Given the description of an element on the screen output the (x, y) to click on. 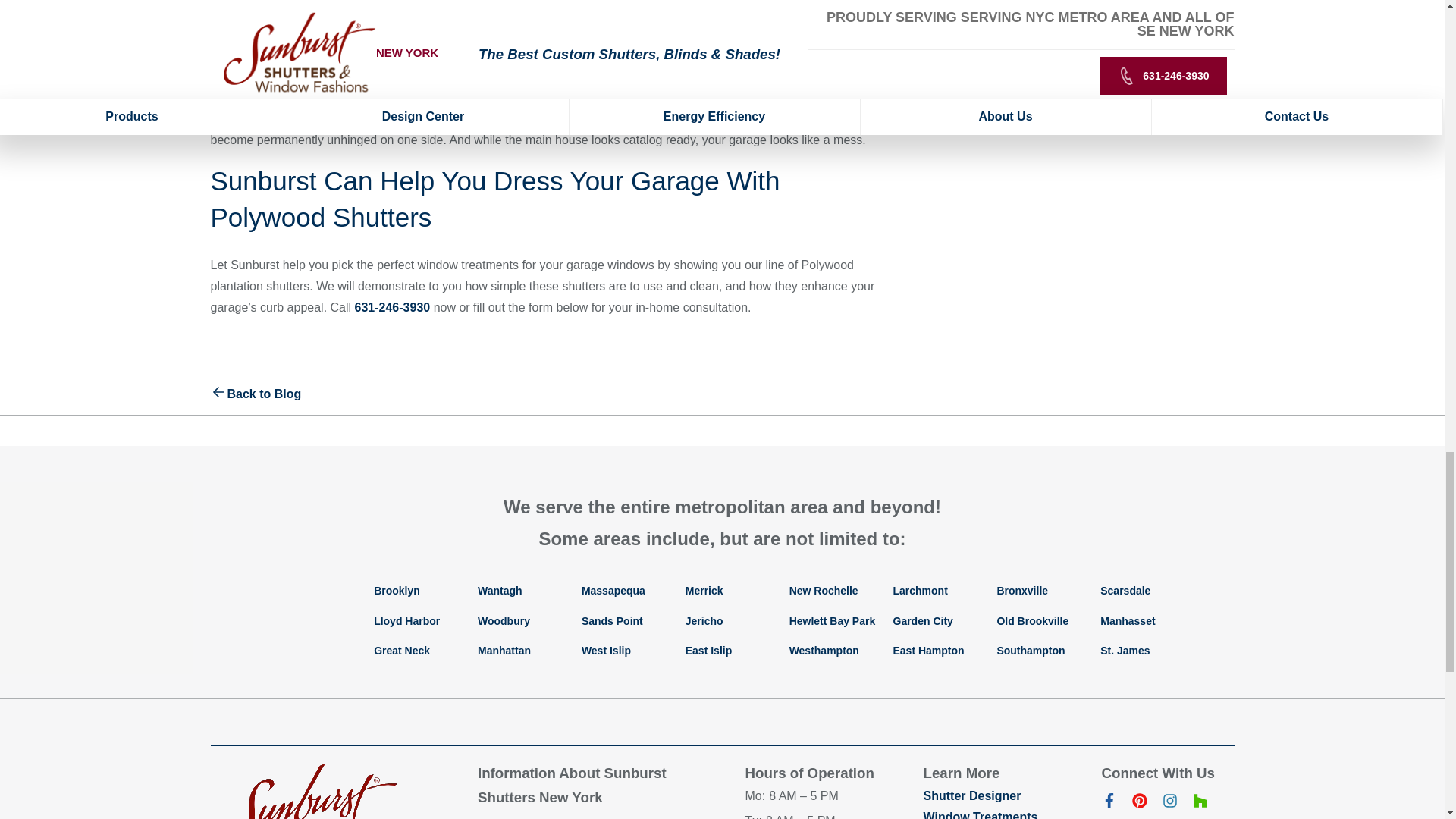
Like us on Facebook (1108, 803)
Follow us on Instagram (1168, 803)
Save us on Houzz (1199, 803)
Follow us on Pinterest (1139, 803)
